Given the description of an element on the screen output the (x, y) to click on. 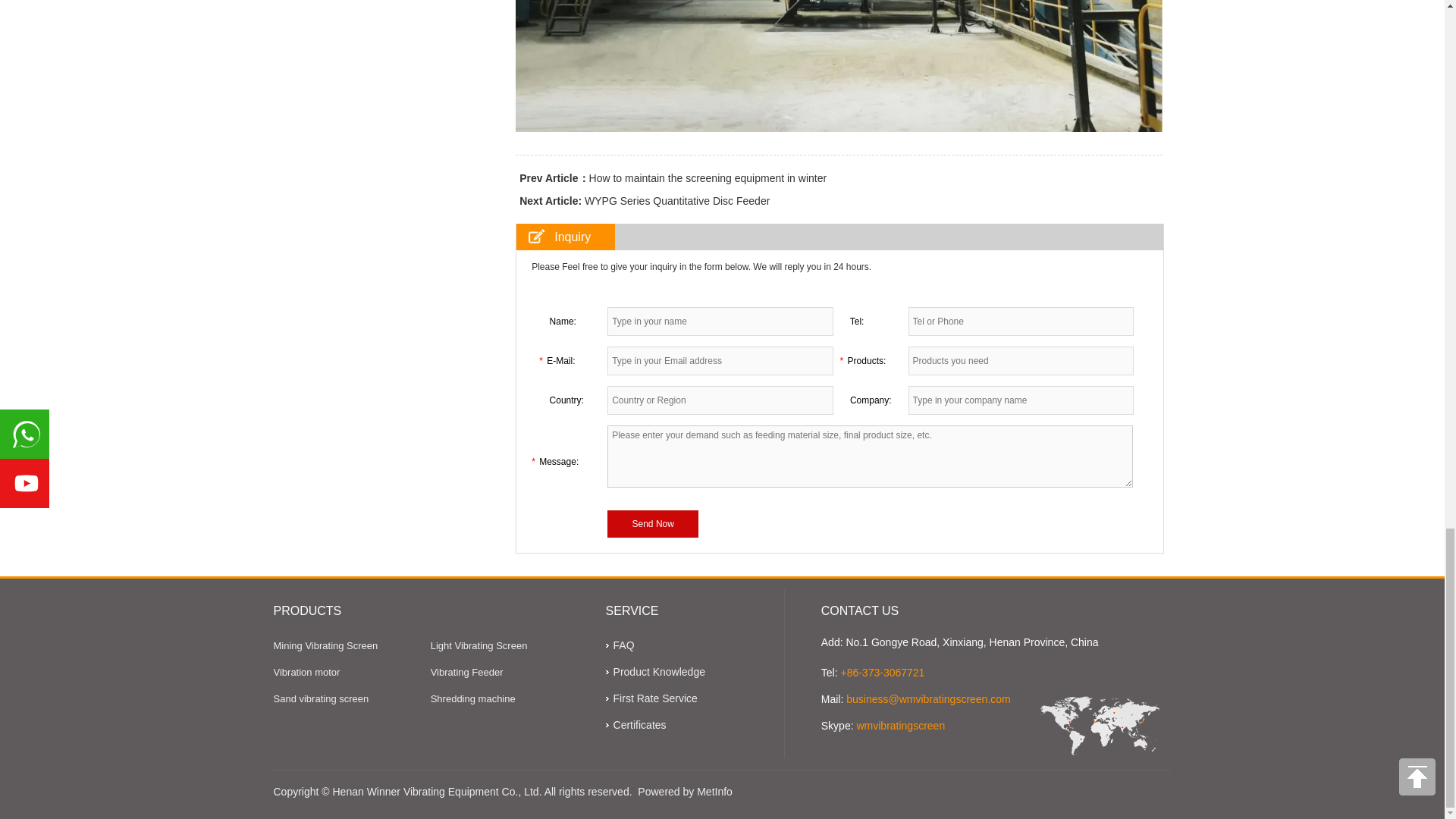
Send Now (652, 523)
